Given the description of an element on the screen output the (x, y) to click on. 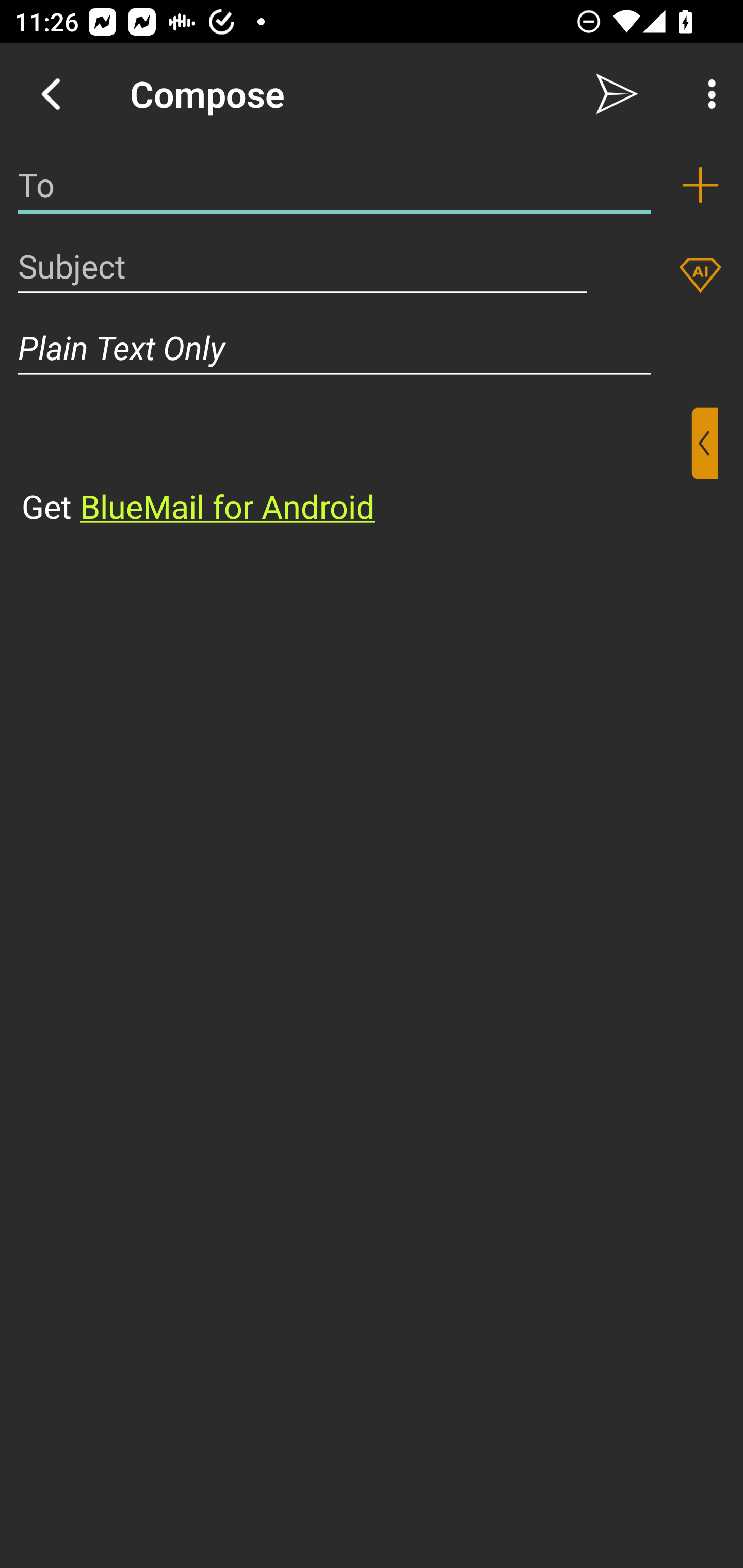
Navigate up (50, 93)
Send (616, 93)
More Options (706, 93)
To (334, 184)
Add recipient (To) (699, 184)
Subject (302, 266)
Plain Text Only (371, 347)


⁣Get BlueMail for Android ​ (355, 468)
